Given the description of an element on the screen output the (x, y) to click on. 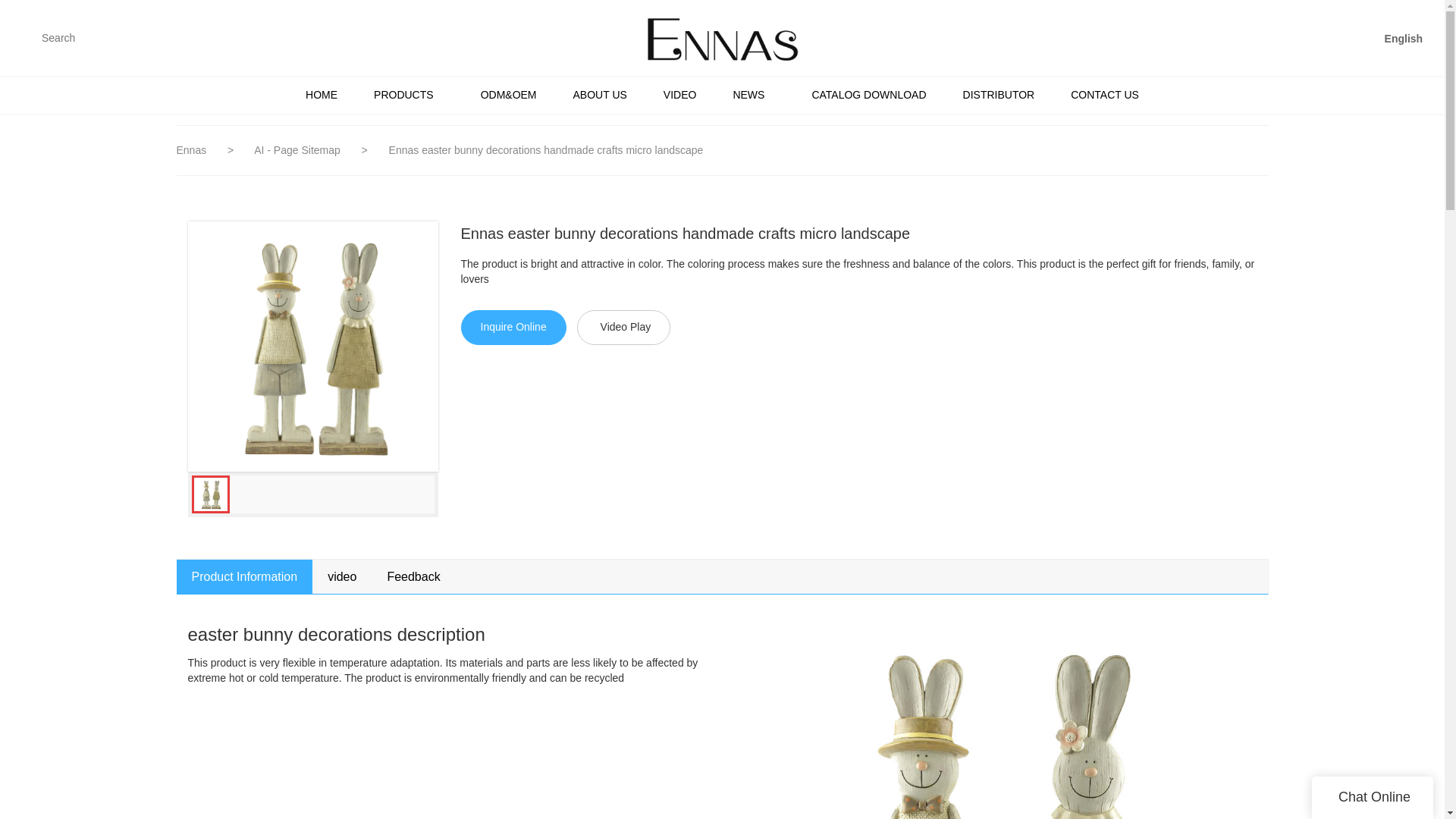
DISTRIBUTOR (998, 94)
ABOUT US (599, 94)
Inquire Online (513, 327)
CONTACT US (1104, 94)
VIDEO (679, 94)
Ennas (192, 150)
HOME (320, 94)
Video Play (623, 327)
NEWS (753, 94)
AI - Page Sitemap (298, 150)
PRODUCTS (409, 94)
CATALOG DOWNLOAD (868, 94)
video (342, 576)
Product Information (244, 576)
